Given the description of an element on the screen output the (x, y) to click on. 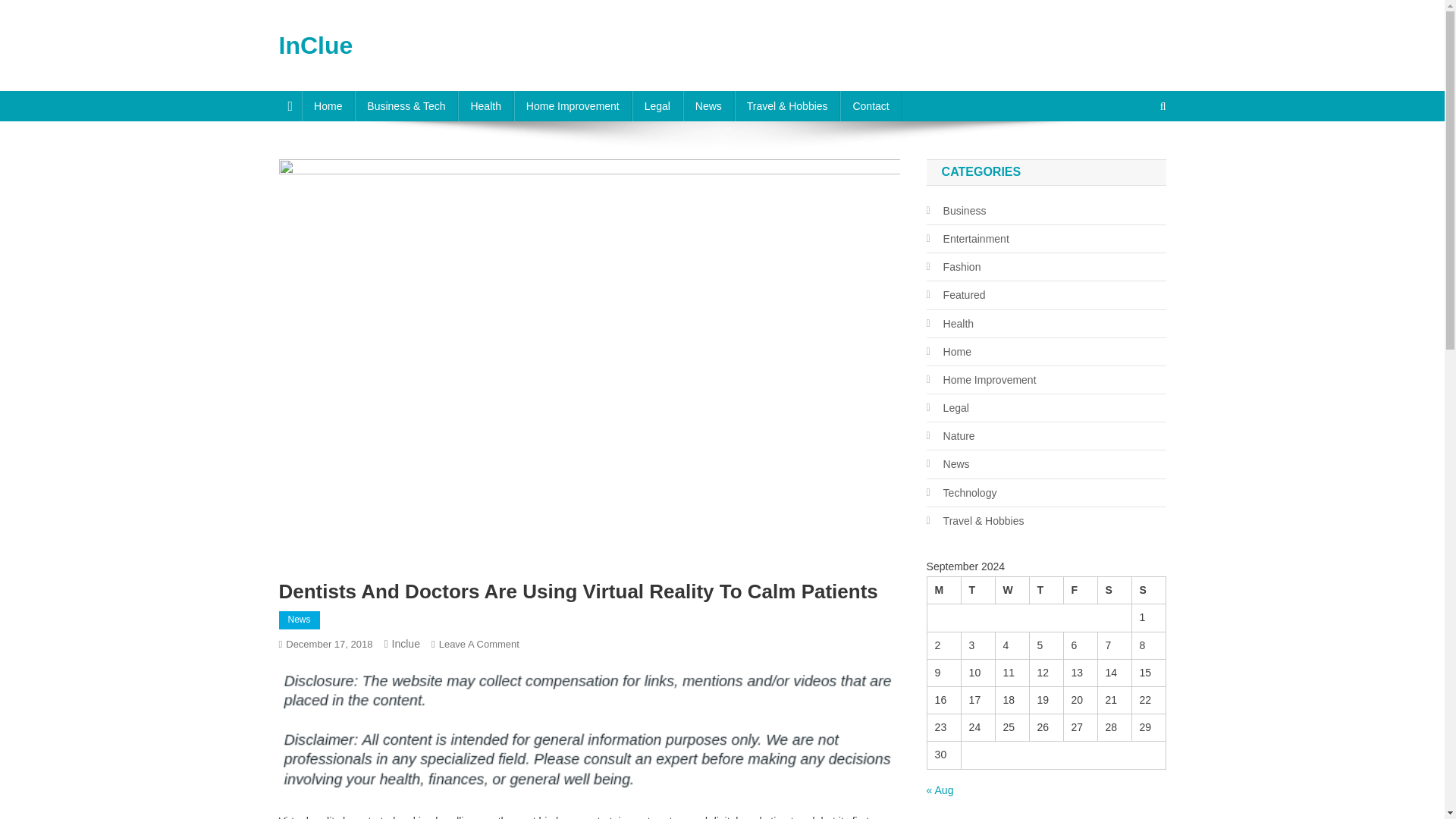
Tuesday (977, 590)
News (707, 105)
Thursday (1045, 590)
Search (1133, 156)
December 17, 2018 (328, 644)
Inclue (405, 644)
Contact (870, 105)
Legal (656, 105)
Saturday (1114, 590)
Friday (1079, 590)
